Given the description of an element on the screen output the (x, y) to click on. 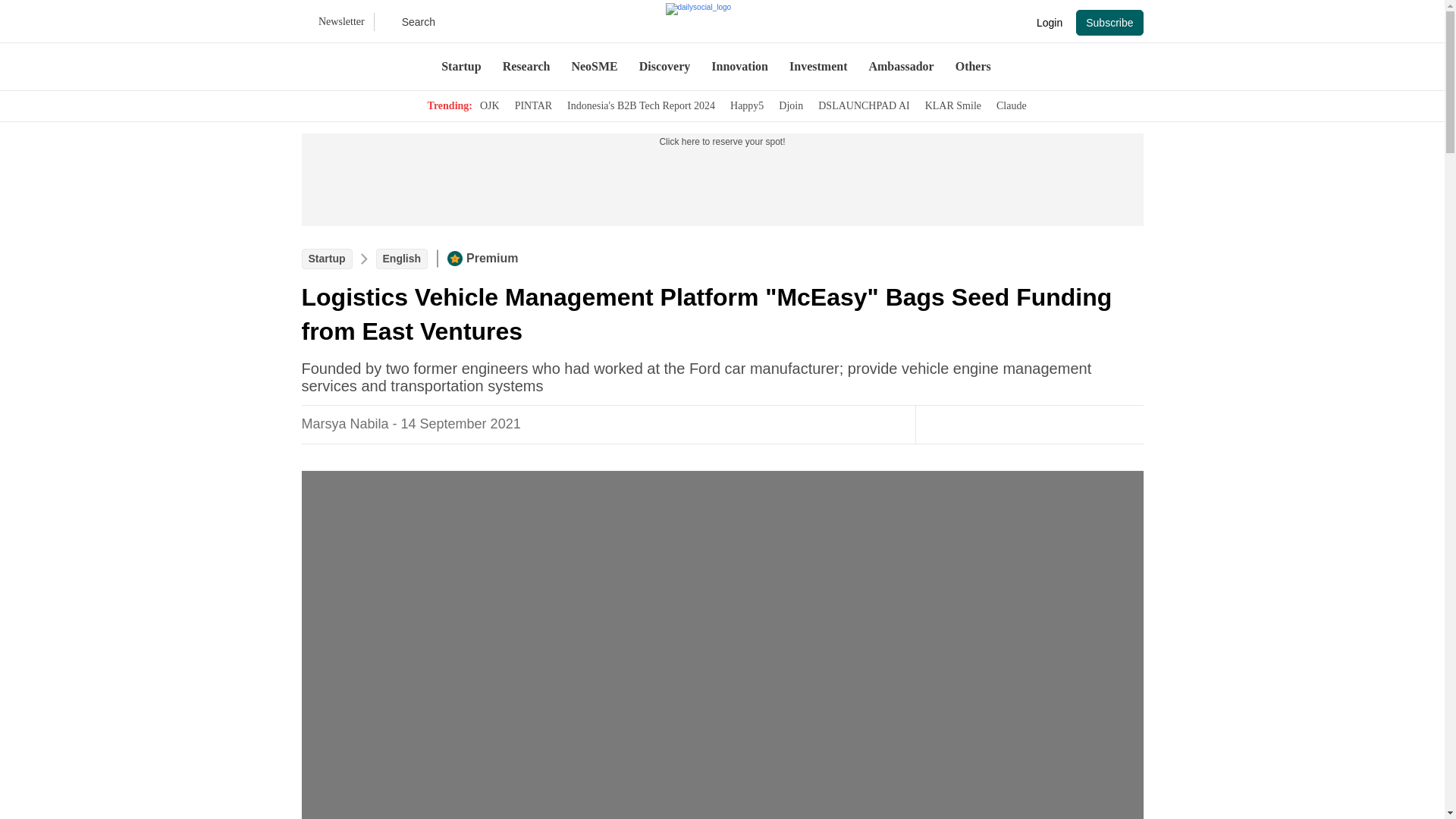
Share this article (1042, 423)
Newsletter (337, 22)
Share this article (1073, 423)
Share this article (1103, 423)
Share this article (1013, 423)
